Given the description of an element on the screen output the (x, y) to click on. 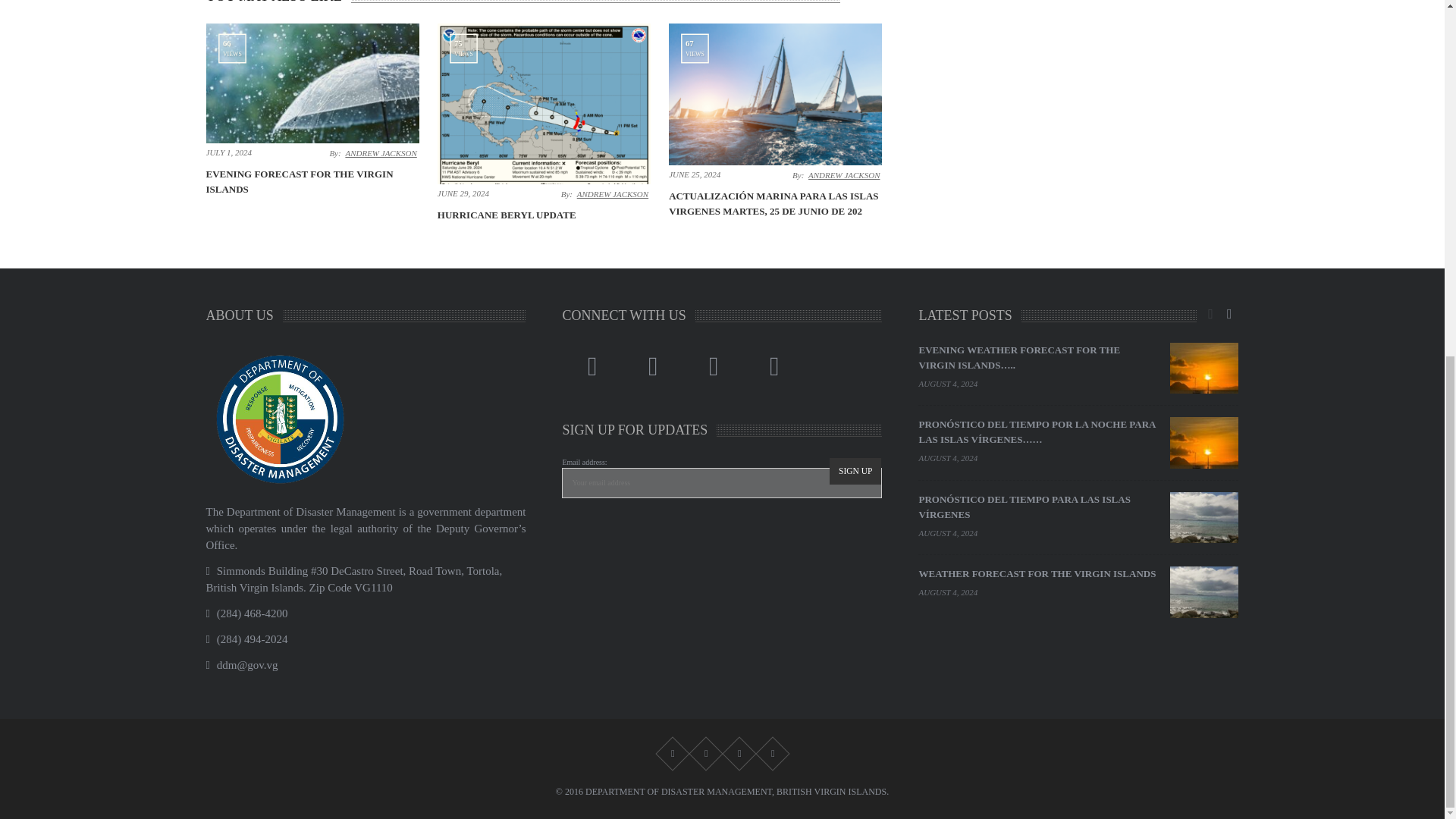
EVENING FORECAST FOR THE VIRGIN ISLANDS (299, 181)
twitter (652, 367)
HURRICANE BERYL UPDATE (507, 214)
Sign up (854, 471)
facebook (592, 367)
